Given the description of an element on the screen output the (x, y) to click on. 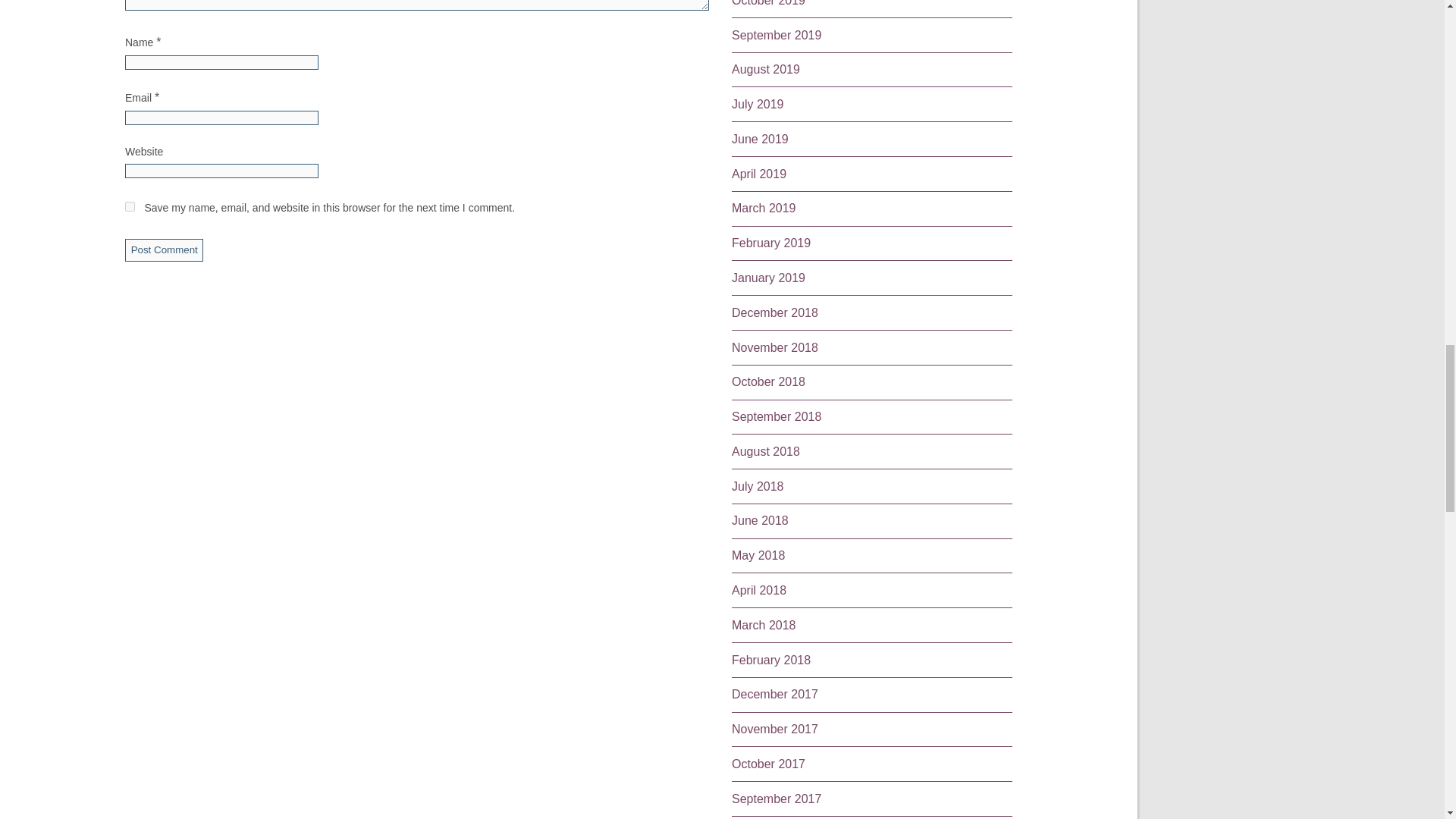
Post Comment (164, 250)
Post Comment (164, 250)
yes (130, 206)
